Given the description of an element on the screen output the (x, y) to click on. 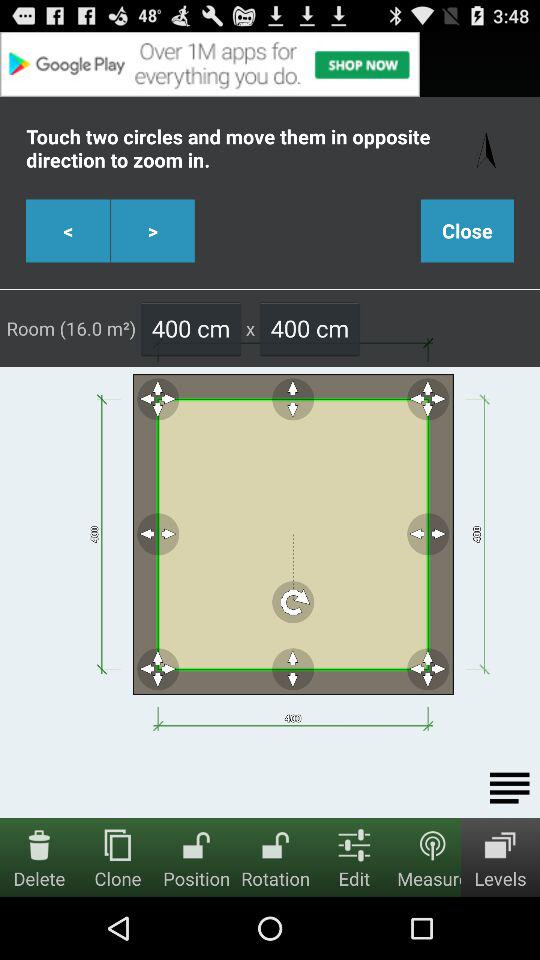
shop (270, 64)
